Given the description of an element on the screen output the (x, y) to click on. 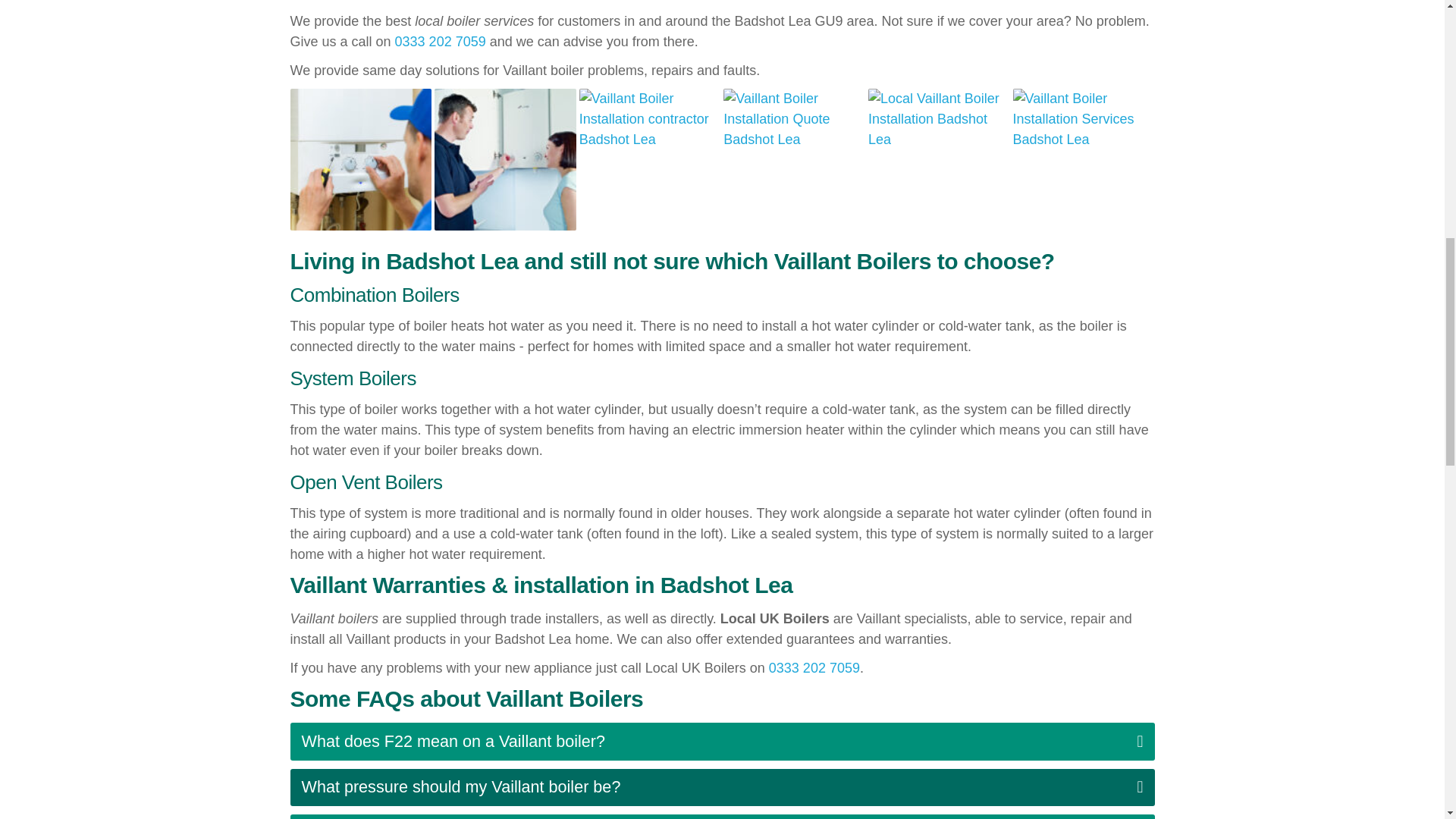
0333 202 7059 (814, 667)
0333 202 7059 (440, 41)
What does F22 mean on a Vaillant boiler? (721, 741)
What pressure should my Vaillant boiler be? (721, 787)
